Given the description of an element on the screen output the (x, y) to click on. 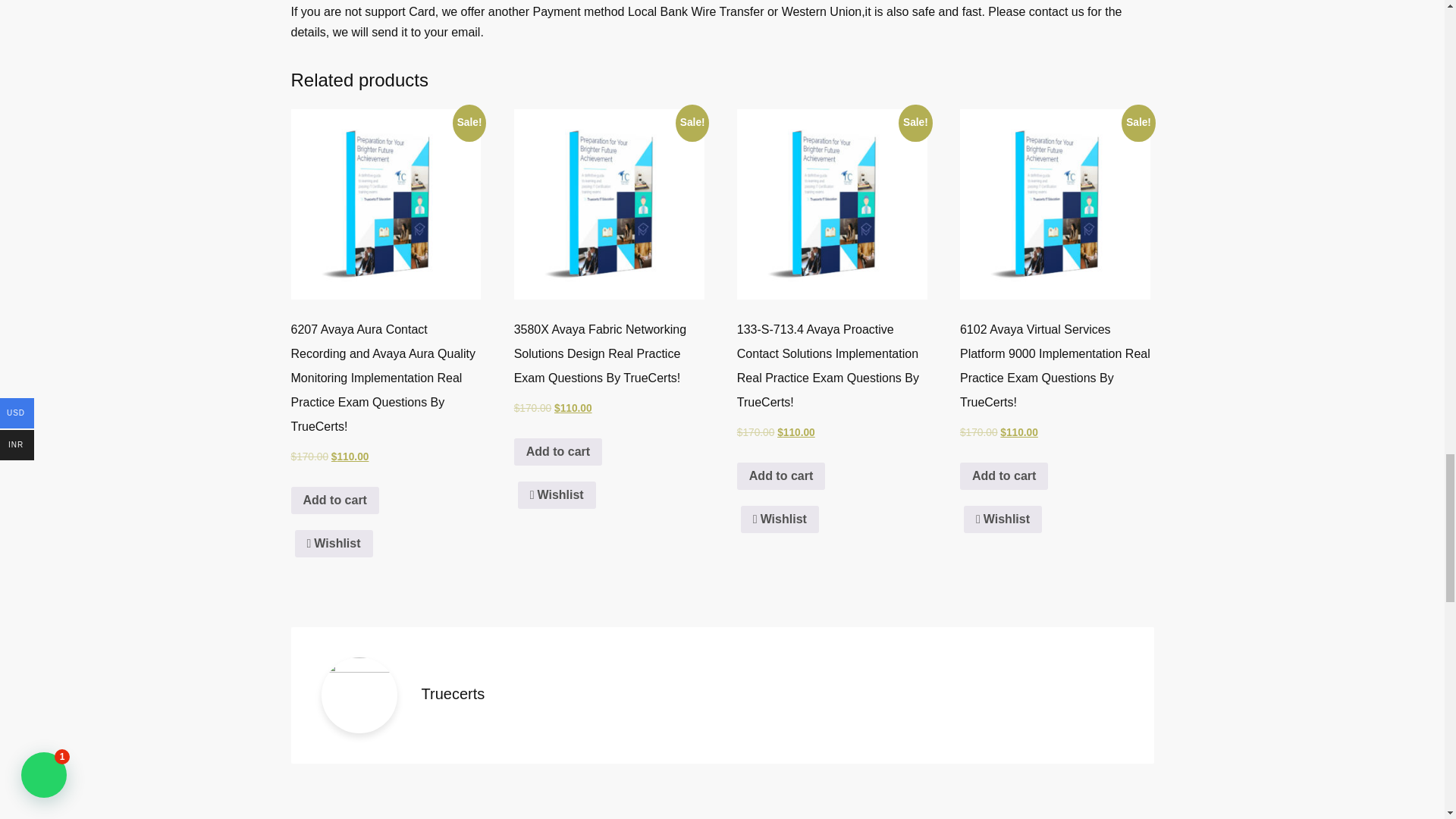
Wishlist (779, 519)
Add to cart (780, 475)
Wishlist (556, 494)
Wishlist (333, 543)
Add to cart (557, 452)
Add to cart (334, 500)
